Given the description of an element on the screen output the (x, y) to click on. 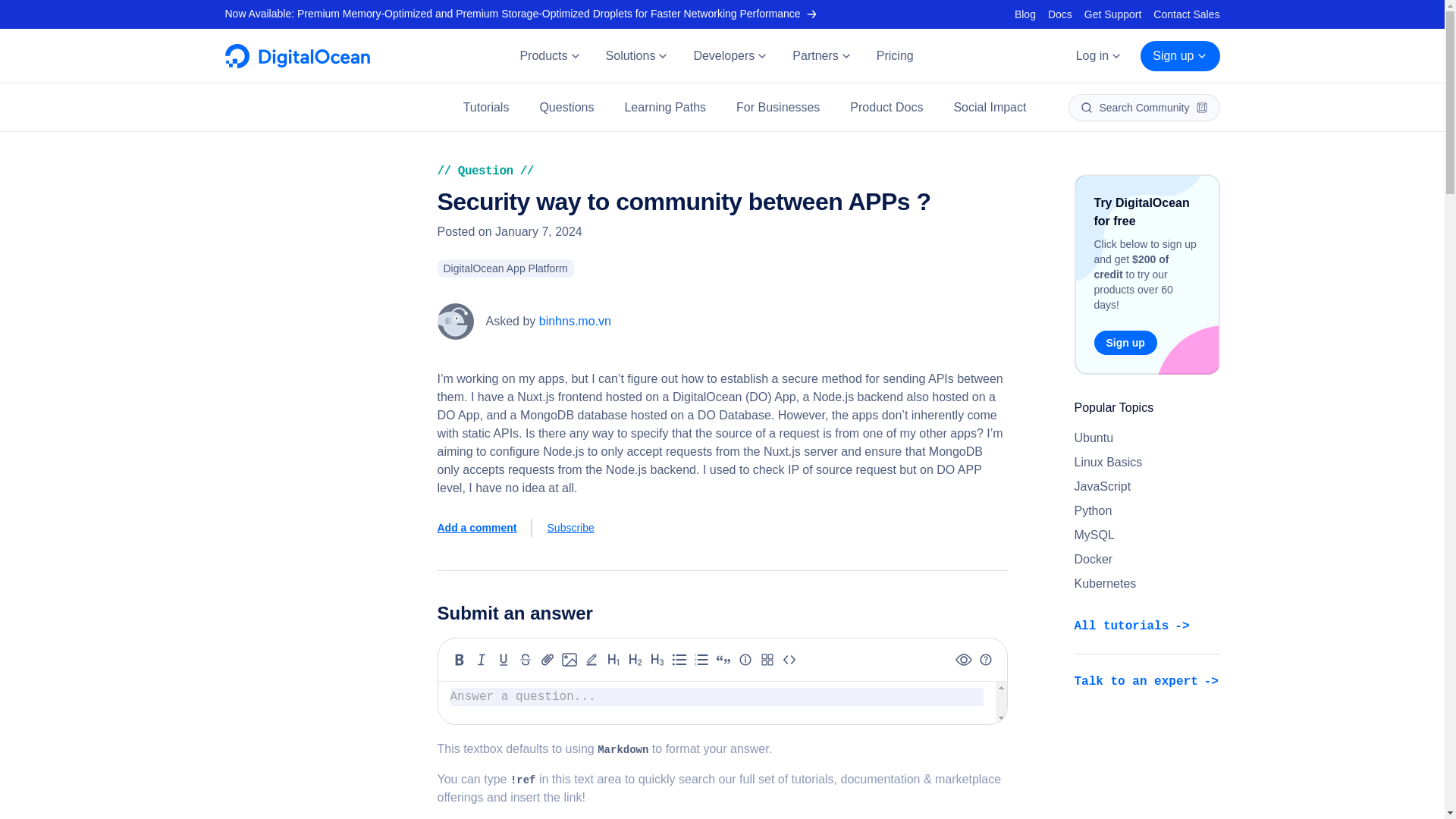
Get Support (1112, 14)
Products (549, 55)
Link (547, 659)
Unordered list (678, 659)
Preview (962, 659)
Ordered list (700, 659)
Underline (503, 659)
Blog (1024, 14)
DigitalOcean (296, 63)
